Given the description of an element on the screen output the (x, y) to click on. 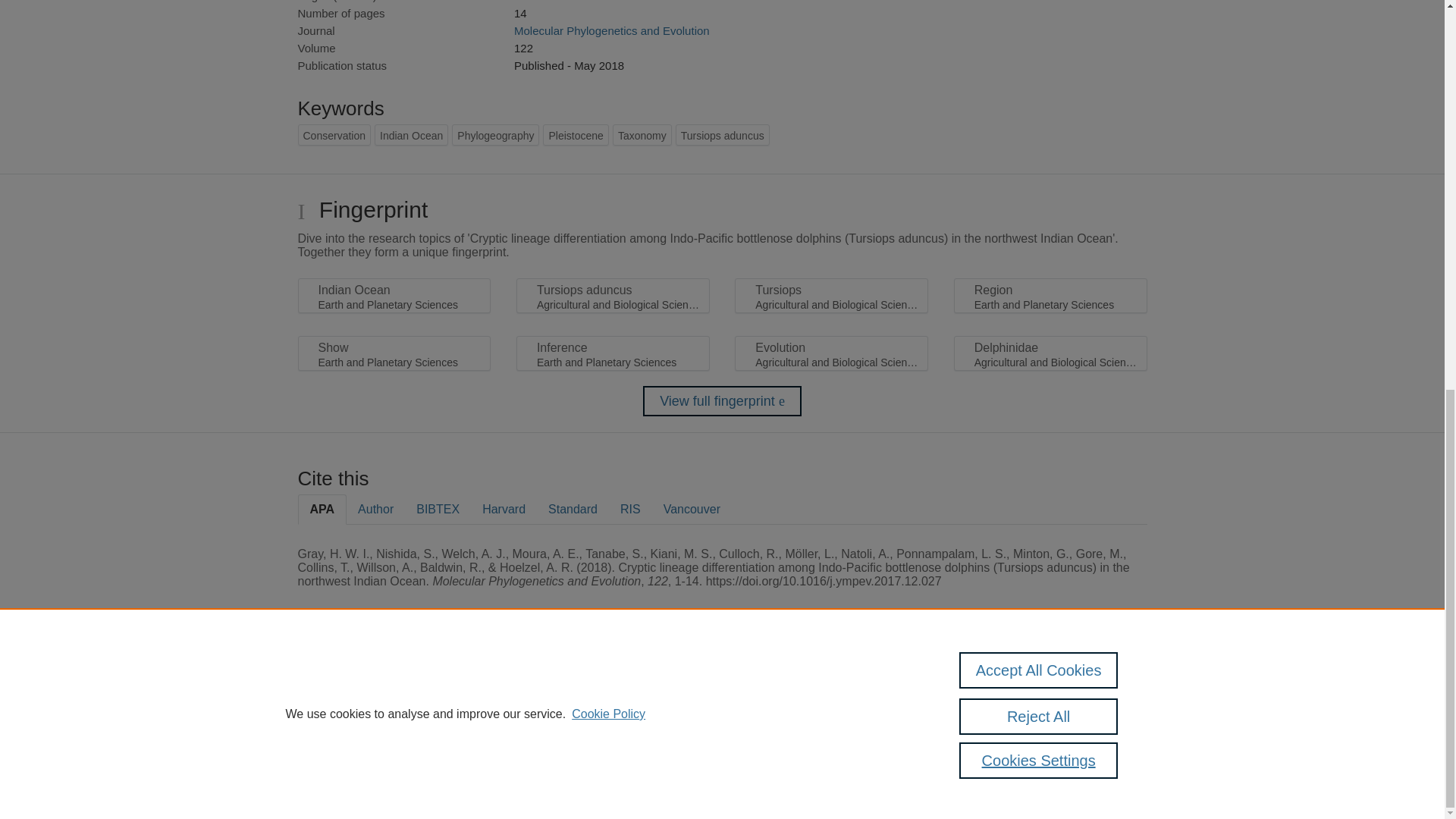
Pure (362, 686)
About web accessibility (1090, 692)
Elsevier B.V. (506, 707)
Cookies Settings (334, 760)
use of cookies (796, 739)
Molecular Phylogenetics and Evolution (611, 30)
View full fingerprint (722, 400)
Scopus (394, 686)
Log in to ResearchNow (347, 781)
